Given the description of an element on the screen output the (x, y) to click on. 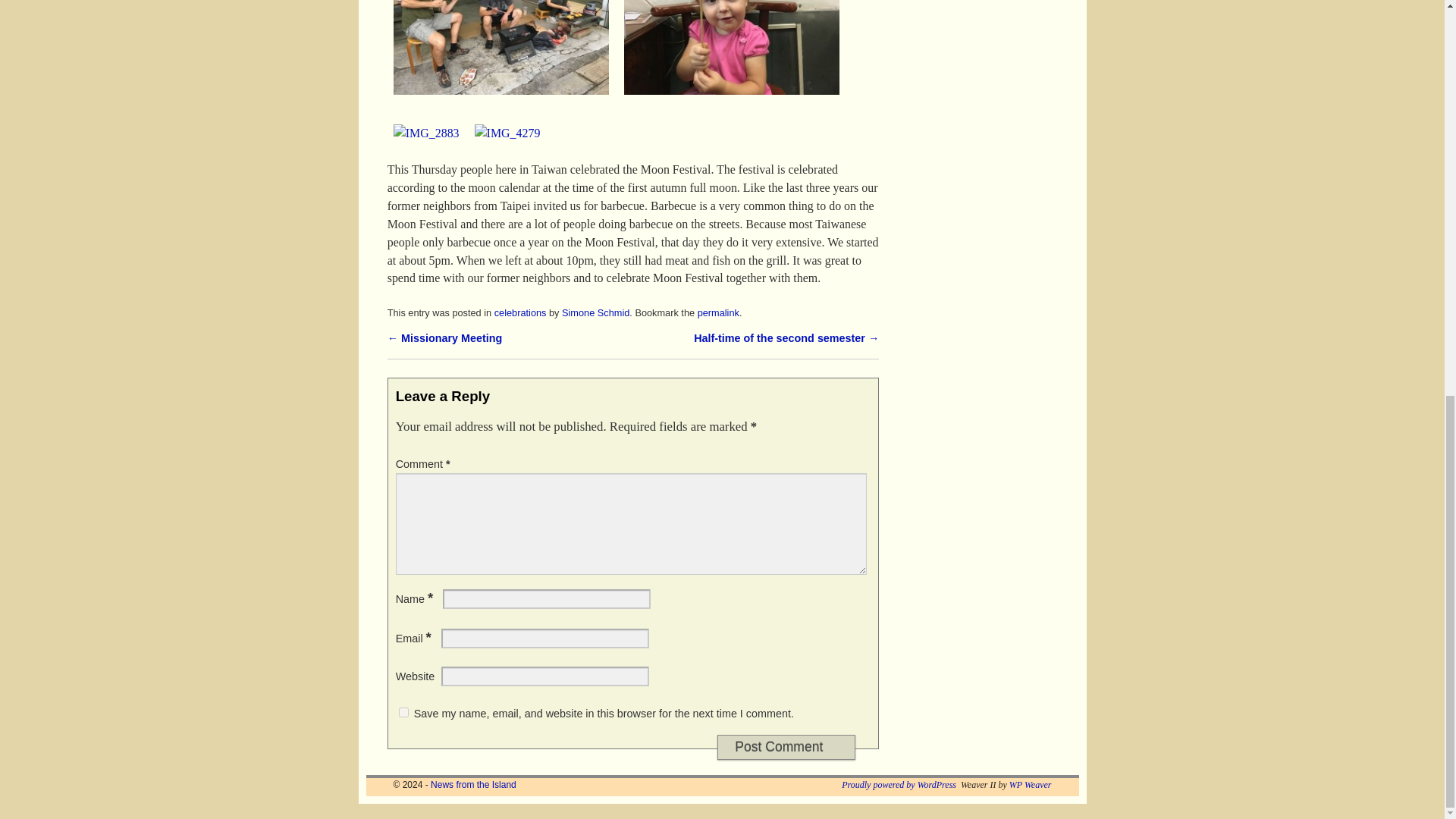
Simone Schmid (595, 408)
celebrations (521, 408)
permalink (718, 408)
Permalink to Moon Festival (718, 408)
yes (403, 808)
